Given the description of an element on the screen output the (x, y) to click on. 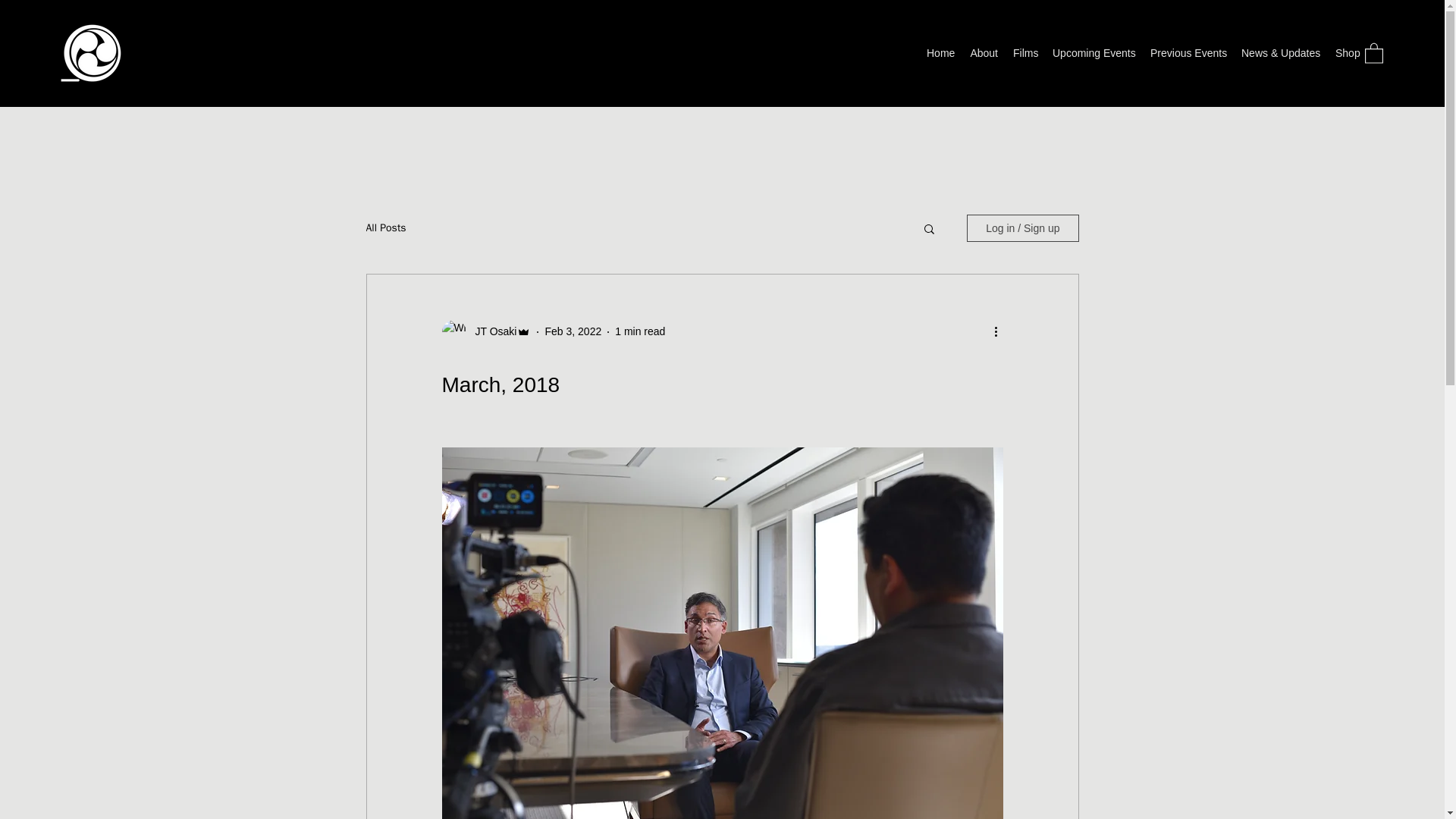
1 min read (639, 331)
Home (940, 52)
Previous Events (1187, 52)
Shop (1347, 52)
All Posts (385, 228)
About (984, 52)
Films (1025, 52)
Upcoming Events (1093, 52)
JT Osaki (490, 331)
Feb 3, 2022 (572, 331)
